Given the description of an element on the screen output the (x, y) to click on. 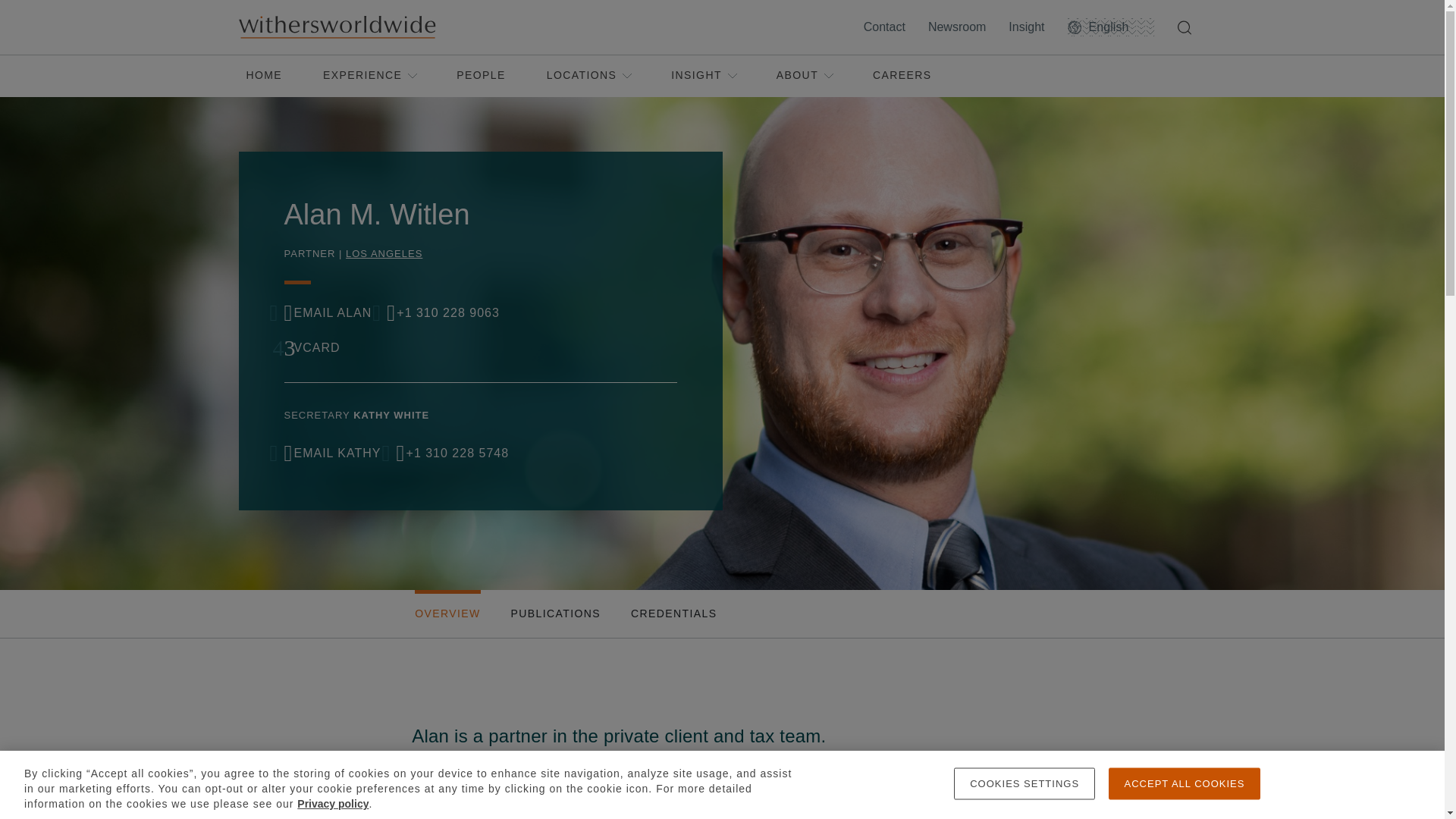
HOME (263, 75)
Home (336, 26)
Newsroom (960, 27)
Insight (1030, 27)
Search (1187, 27)
Contact (888, 27)
